Given the description of an element on the screen output the (x, y) to click on. 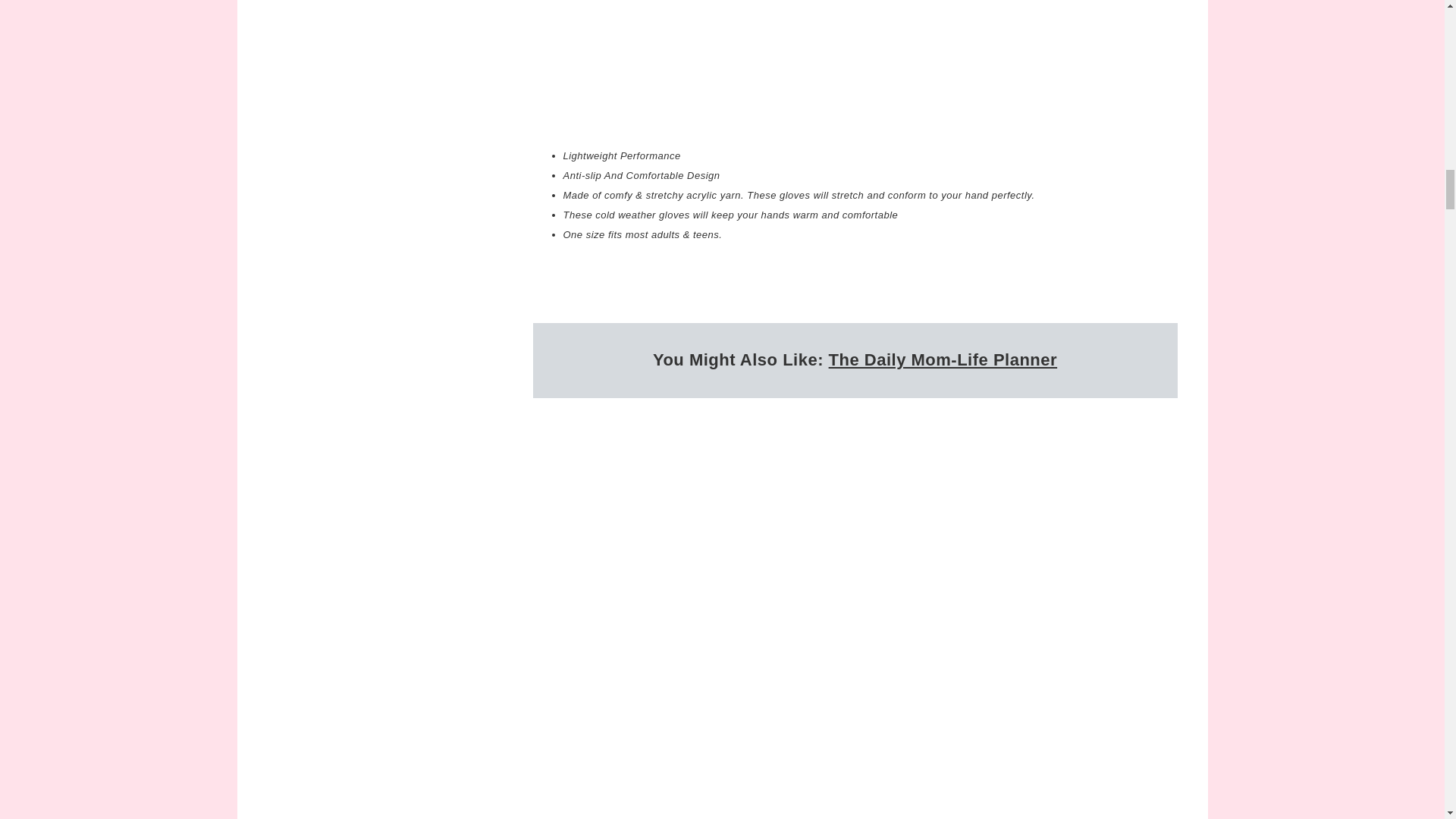
The Daily Mom-Life Planner (943, 359)
